Given the description of an element on the screen output the (x, y) to click on. 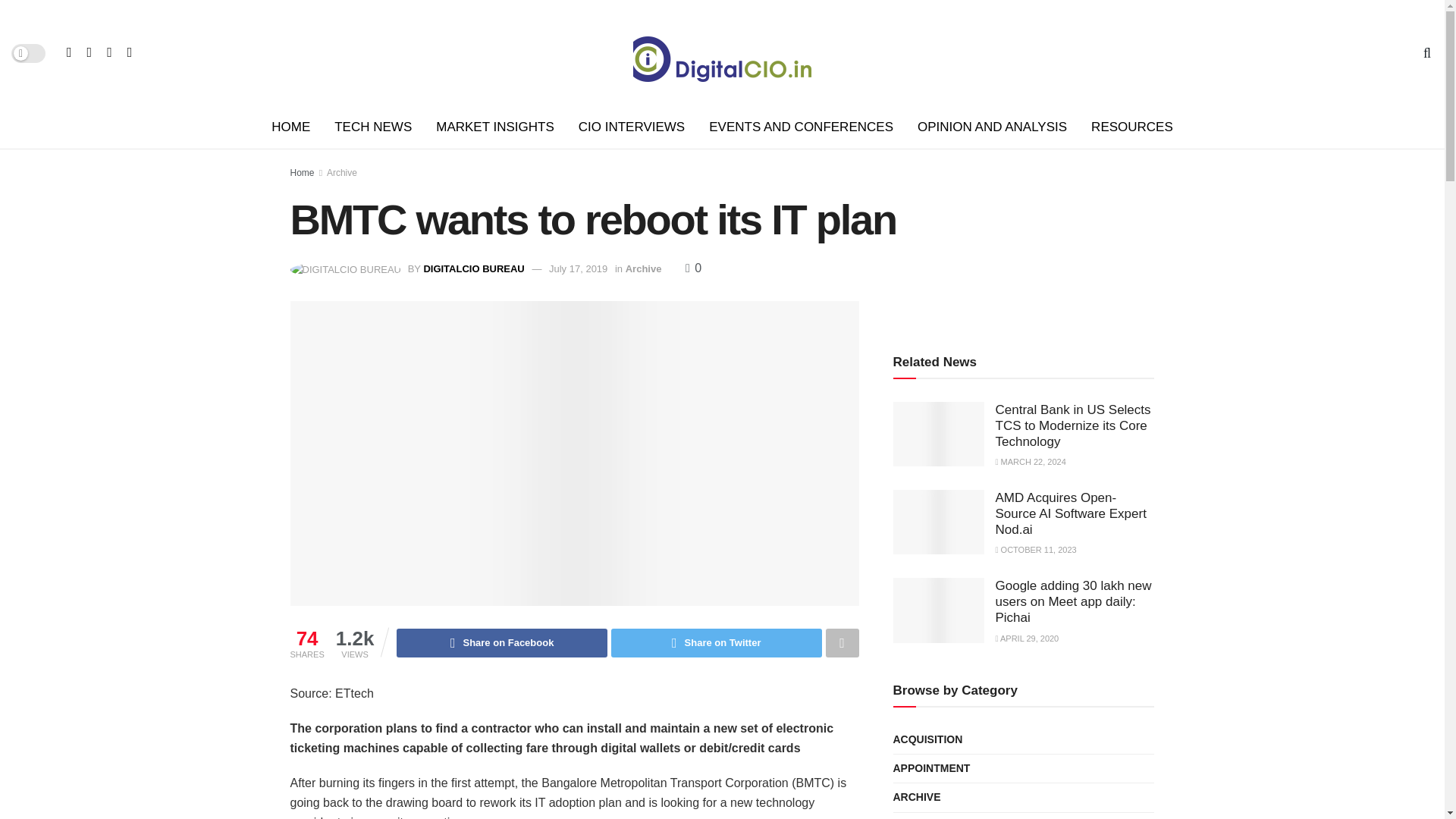
TECH NEWS (372, 127)
HOME (290, 127)
DIGITALCIO BUREAU (473, 268)
Share on Twitter (716, 642)
MARKET INSIGHTS (494, 127)
Share on Facebook (501, 642)
July 17, 2019 (577, 268)
OPINION AND ANALYSIS (991, 127)
CIO INTERVIEWS (631, 127)
RESOURCES (1131, 127)
